Given the description of an element on the screen output the (x, y) to click on. 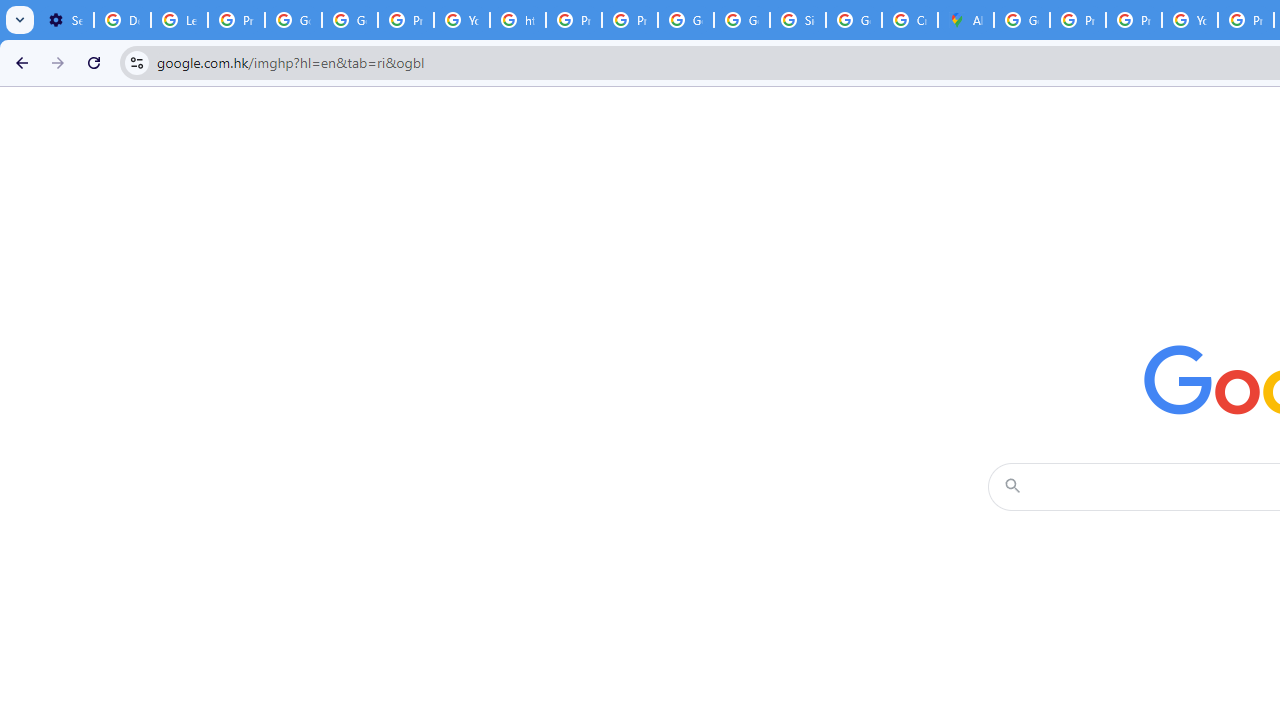
Learn how to find your photos - Google Photos Help (179, 20)
YouTube (461, 20)
Privacy Help Center - Policies Help (573, 20)
YouTube (1190, 20)
Settings - On startup (65, 20)
Create your Google Account (909, 20)
